Given the description of an element on the screen output the (x, y) to click on. 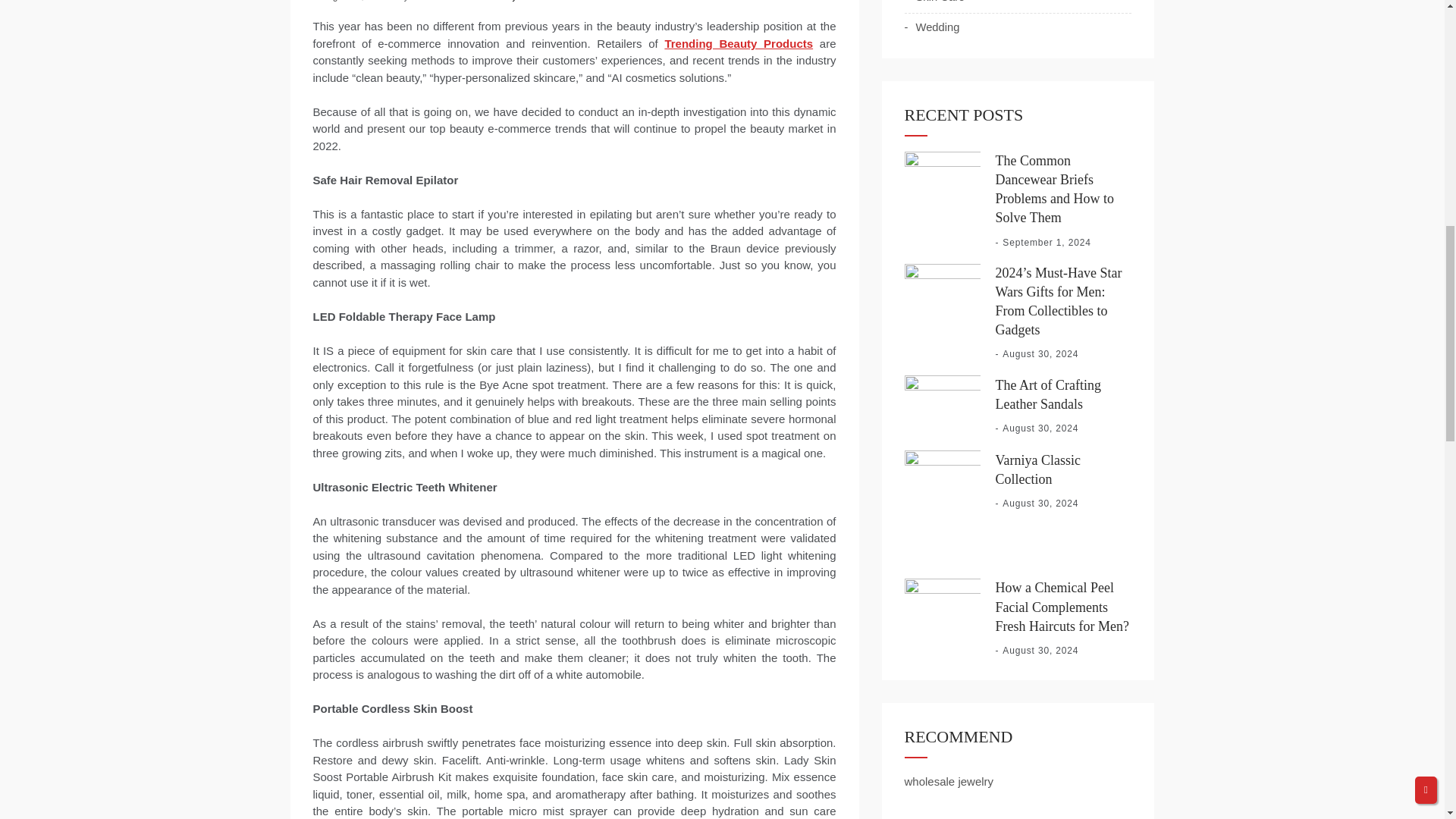
Skin Care (933, 2)
Beauty (500, 0)
Wedding (931, 27)
August 3, 2022 (355, 0)
Trending Beauty Products (737, 42)
Clare Louise (441, 0)
